Given the description of an element on the screen output the (x, y) to click on. 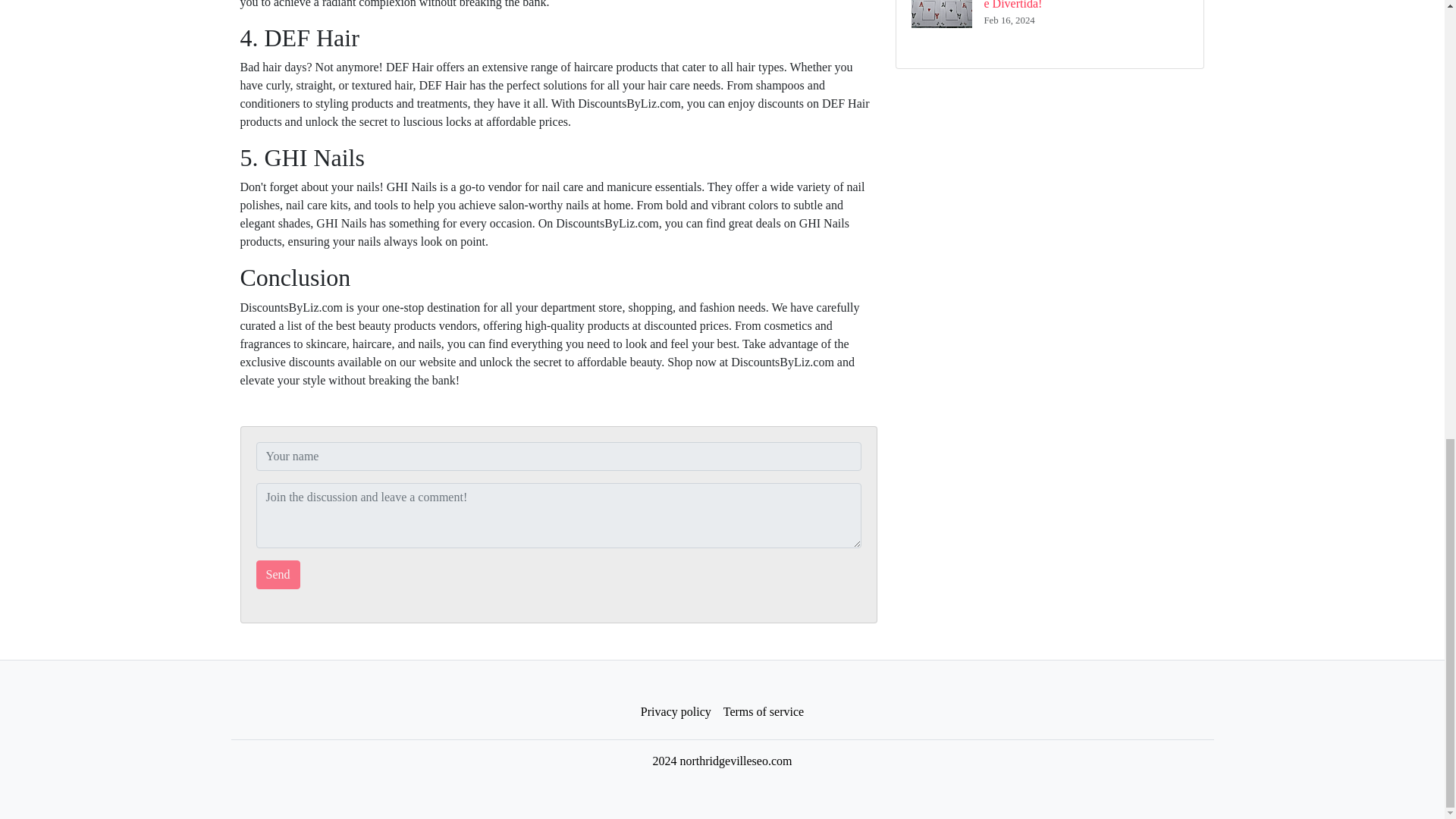
Terms of service (763, 711)
Send (277, 574)
Send (277, 574)
Privacy policy (675, 711)
